Given the description of an element on the screen output the (x, y) to click on. 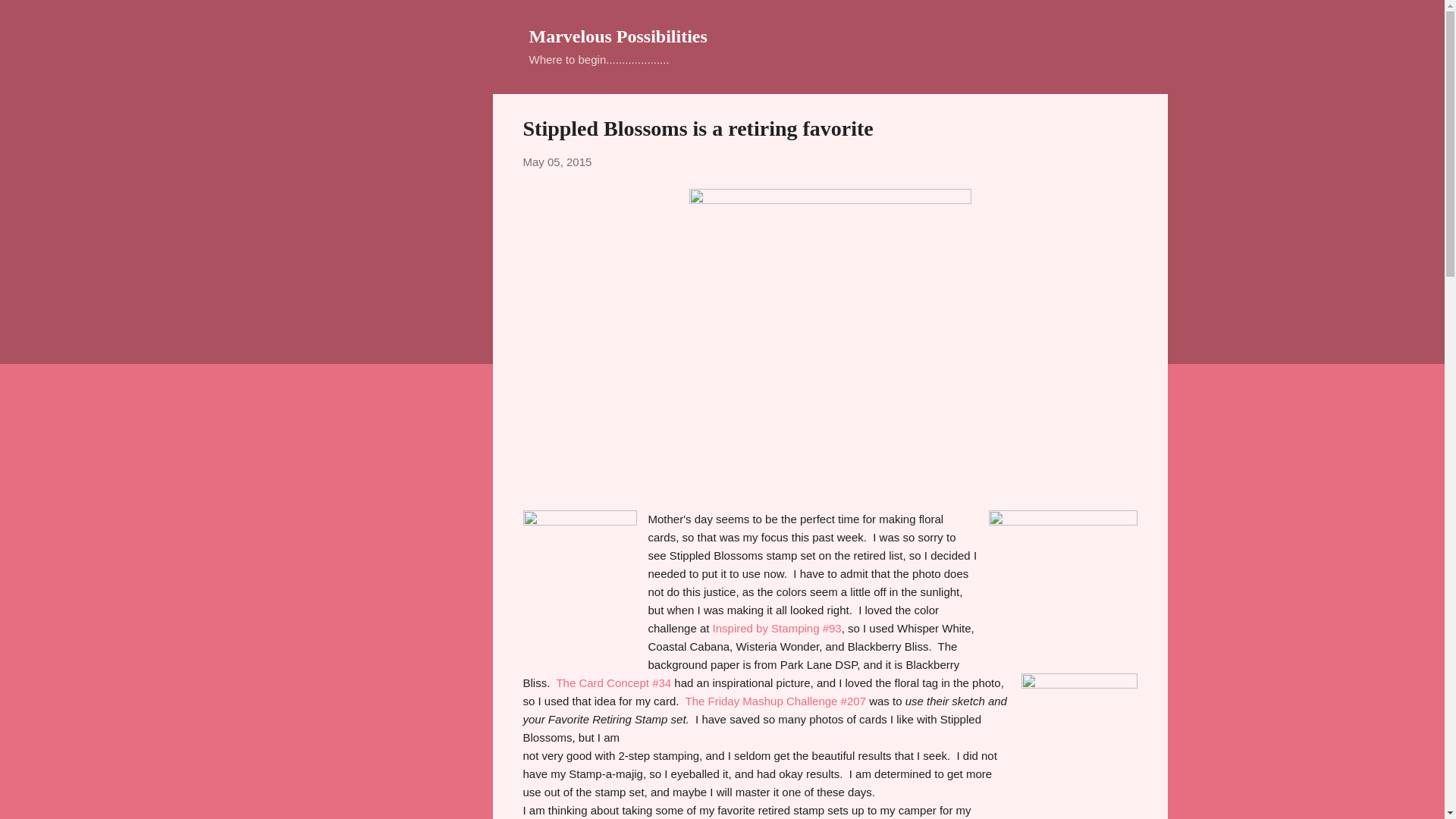
May 05, 2015 (557, 161)
Marvelous Possibilities (618, 35)
Search (29, 18)
permanent link (557, 161)
